Given the description of an element on the screen output the (x, y) to click on. 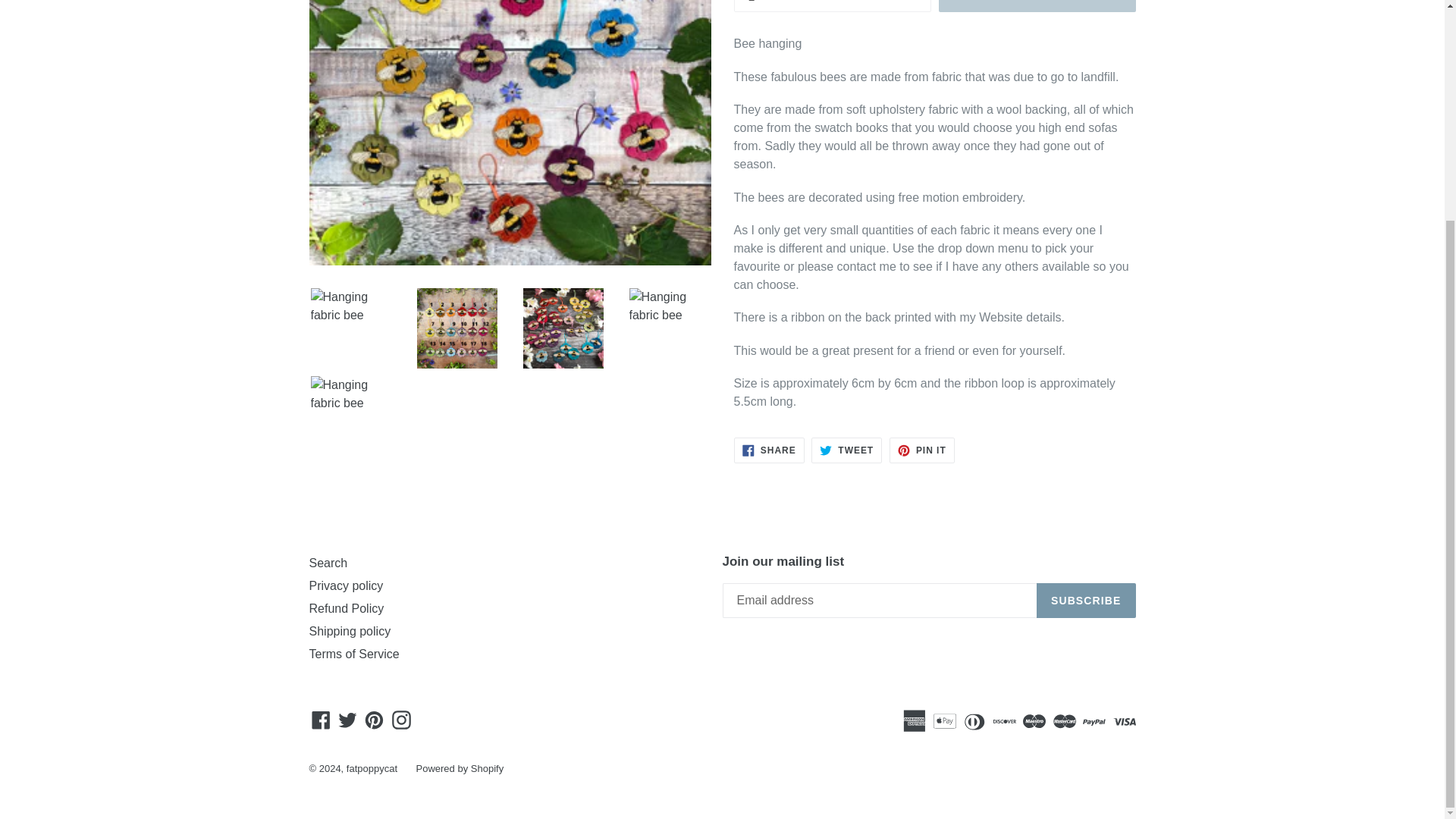
Refund Policy (346, 608)
fatpoppycat on Instagram (401, 719)
SOLD OUT (1037, 6)
fatpoppycat on Facebook (320, 719)
fatpoppycat on Twitter (347, 719)
Shipping policy (349, 631)
fatpoppycat on Pinterest (373, 719)
Privacy policy (769, 450)
Share on Facebook (346, 585)
